Given the description of an element on the screen output the (x, y) to click on. 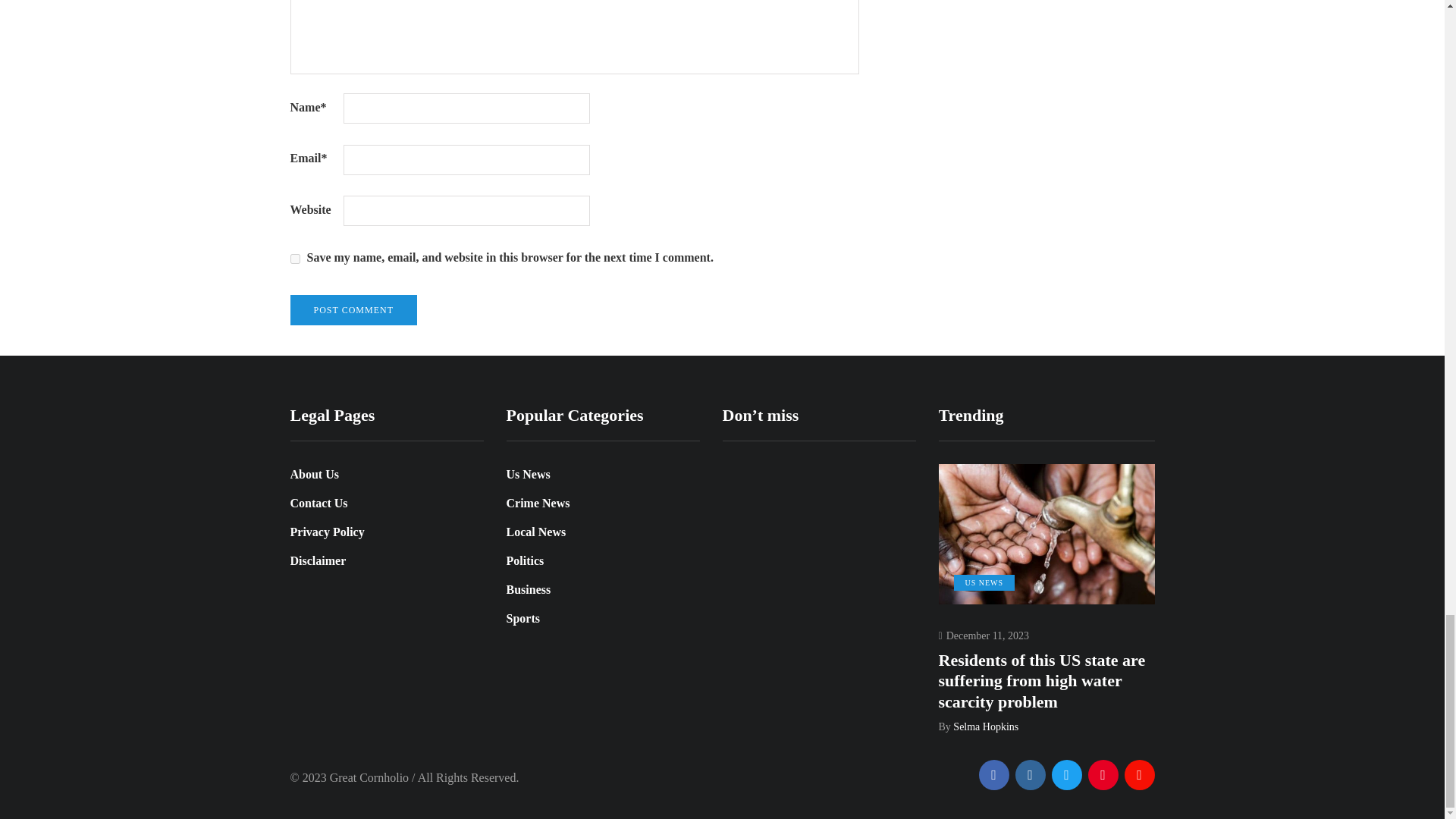
yes (294, 258)
Post comment (352, 309)
